Given the description of an element on the screen output the (x, y) to click on. 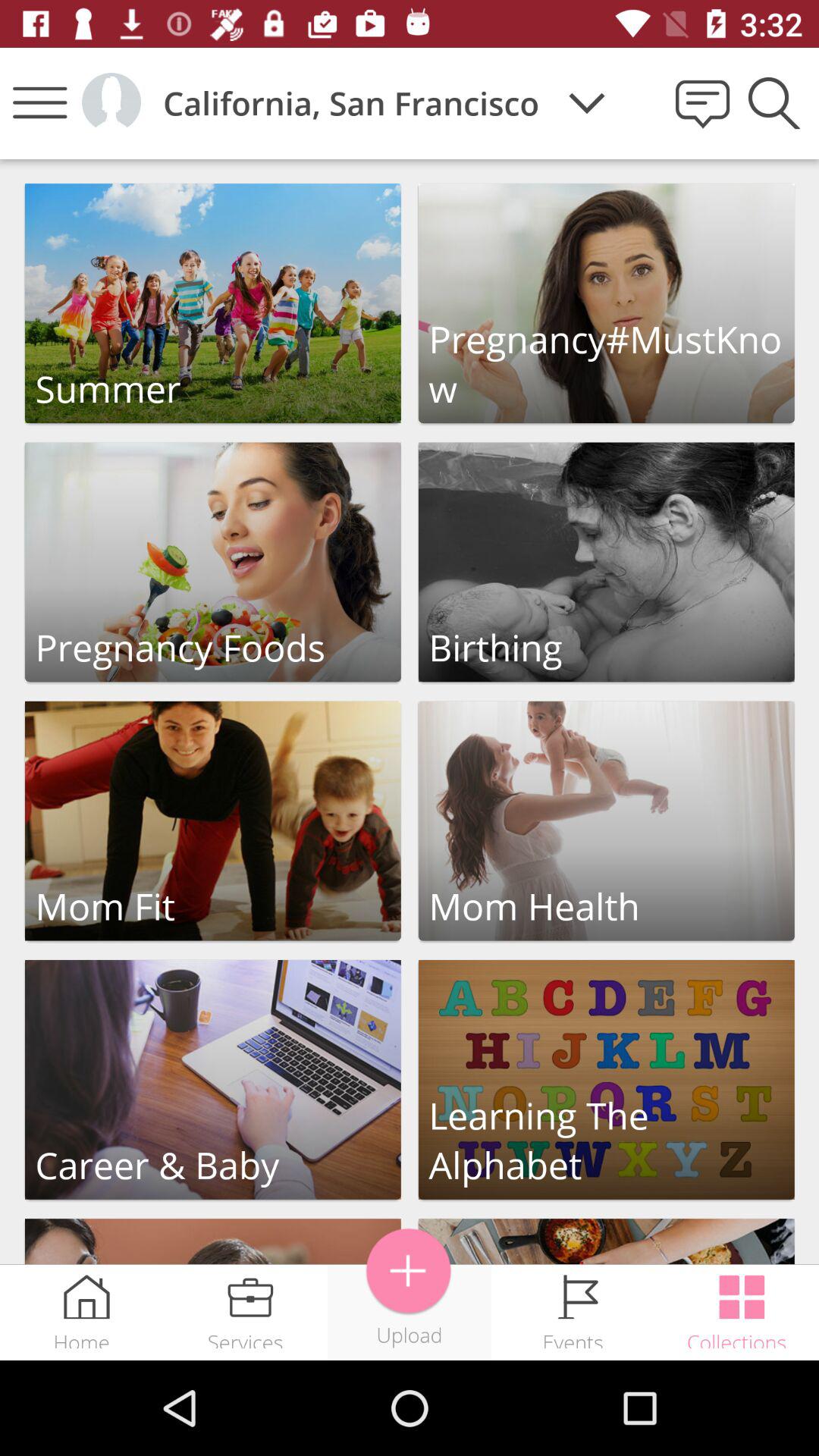
view learning the alphabet (606, 1079)
